Given the description of an element on the screen output the (x, y) to click on. 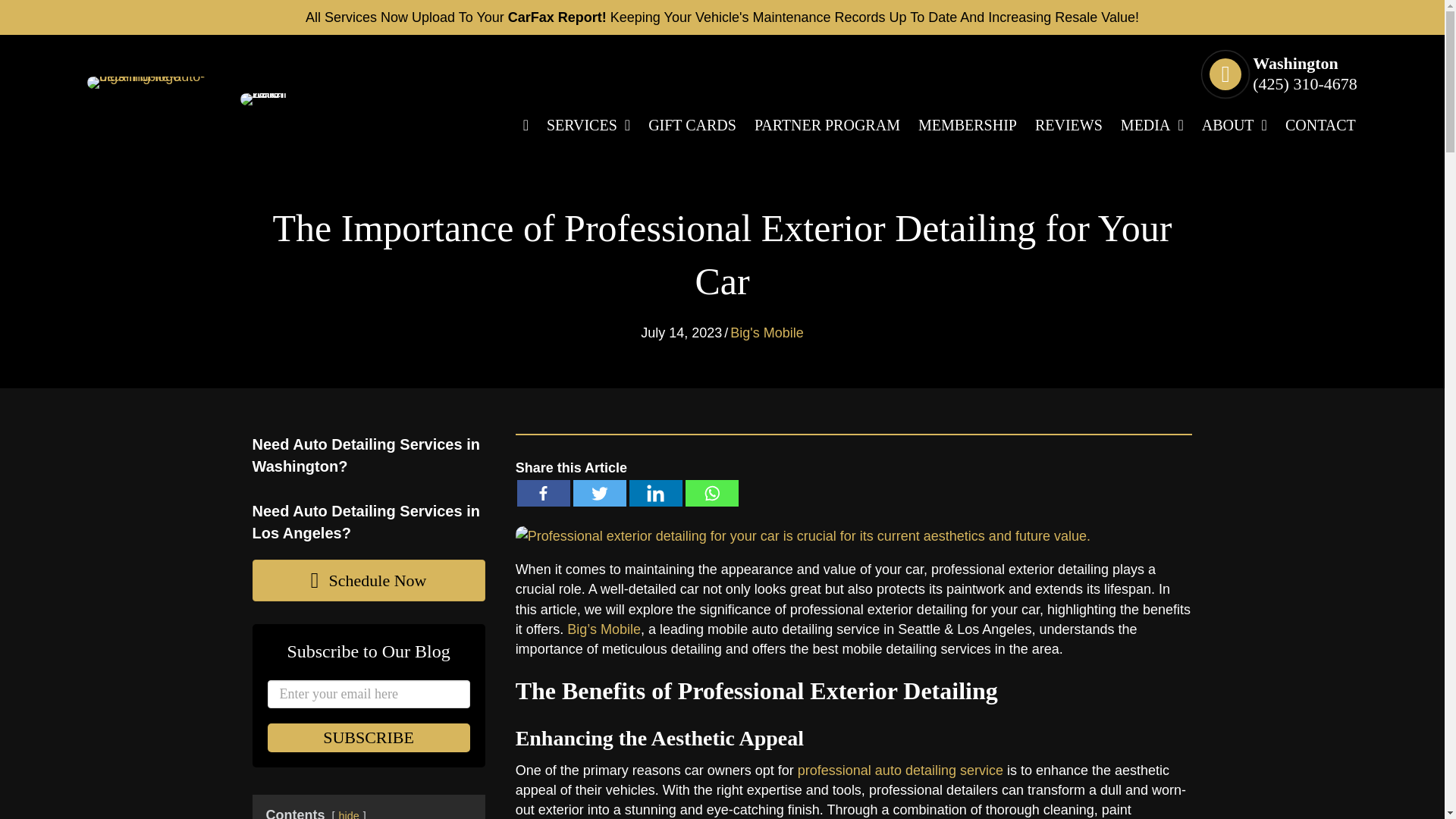
REVIEWS (1068, 125)
MEMBERSHIP (968, 125)
MEDIA (1152, 125)
SERVICES (587, 125)
zero water runoff (277, 99)
Twitter (599, 492)
Whatsapp (711, 492)
Facebook (543, 492)
bigs-mobile-auto-detailing-logo (147, 82)
